Given the description of an element on the screen output the (x, y) to click on. 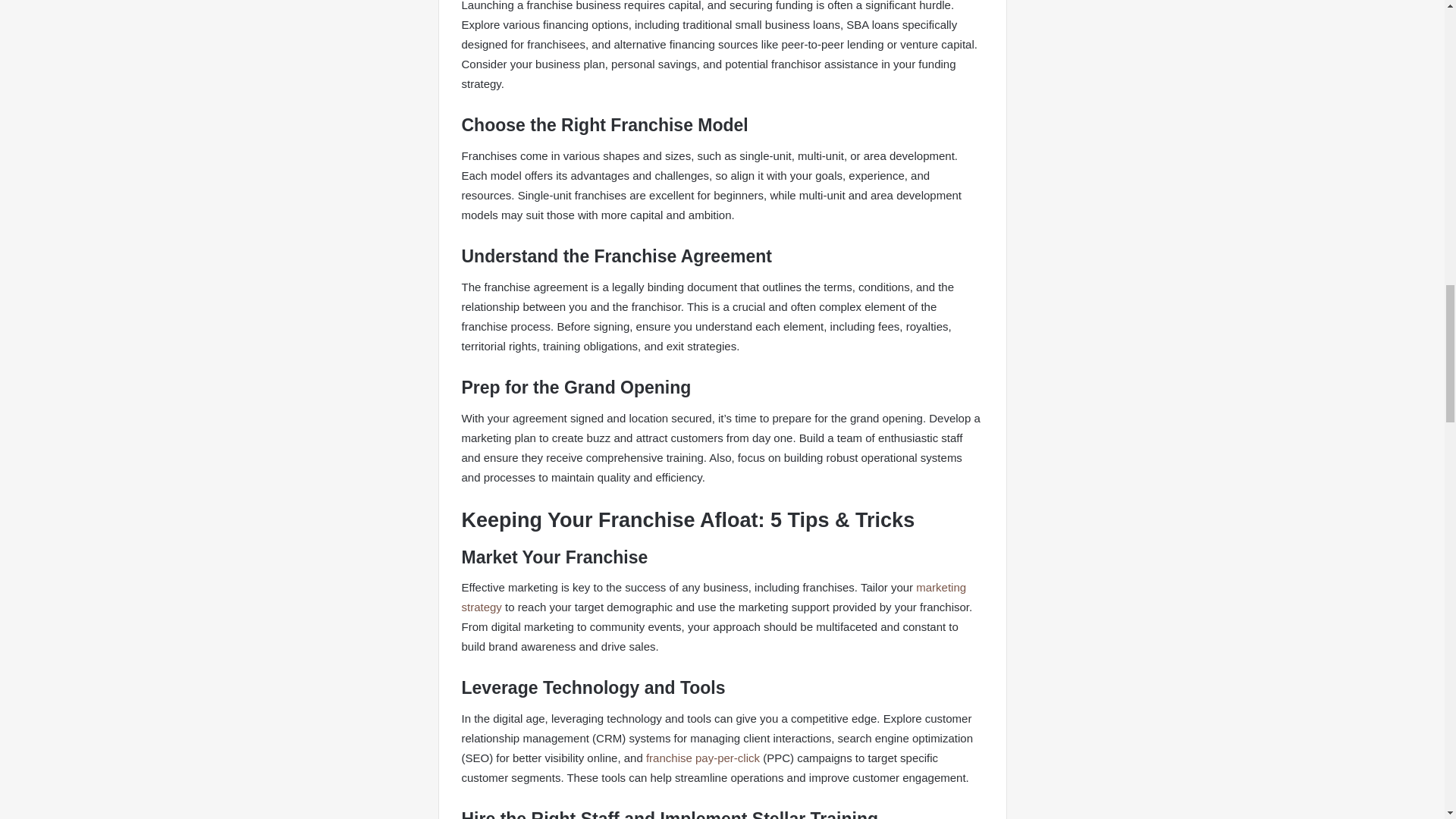
marketing strategy (713, 596)
Top 5 Social Media Marketing Tips From The Pros In 2021 (713, 596)
franchise pay-per-click (701, 757)
